Given the description of an element on the screen output the (x, y) to click on. 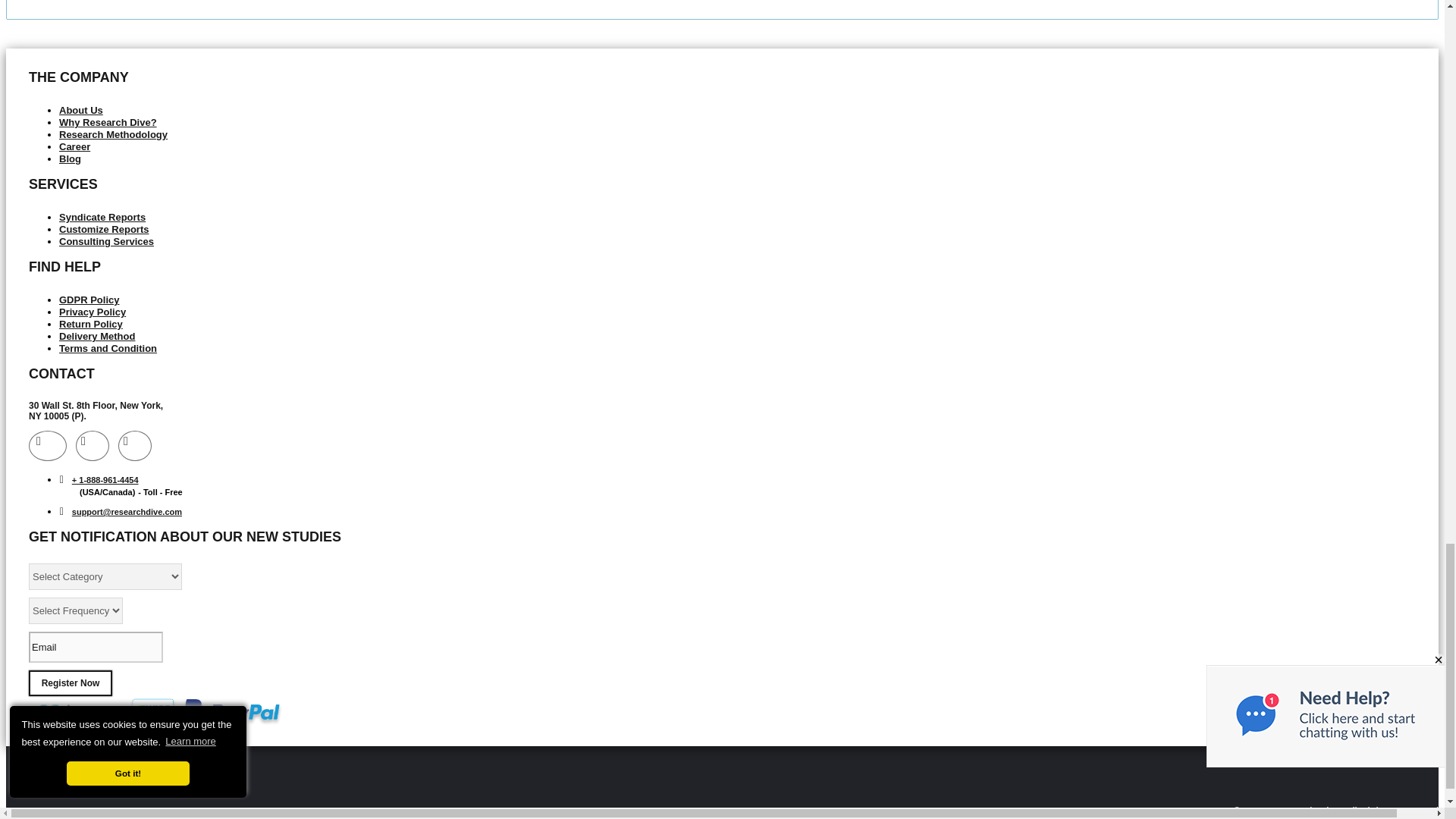
Syndicate Reports (102, 216)
Delivery Method (97, 336)
Career (74, 146)
GDPR Policy (89, 299)
Terms and Condition (108, 348)
Blog (70, 158)
GDPR Policy (89, 299)
About Us (81, 110)
Privacy Policy (92, 311)
Why Research Dive? (108, 122)
Customize Reports (103, 229)
Research Methodology (113, 134)
Return Policy (90, 324)
Consulting Services (106, 241)
